Given the description of an element on the screen output the (x, y) to click on. 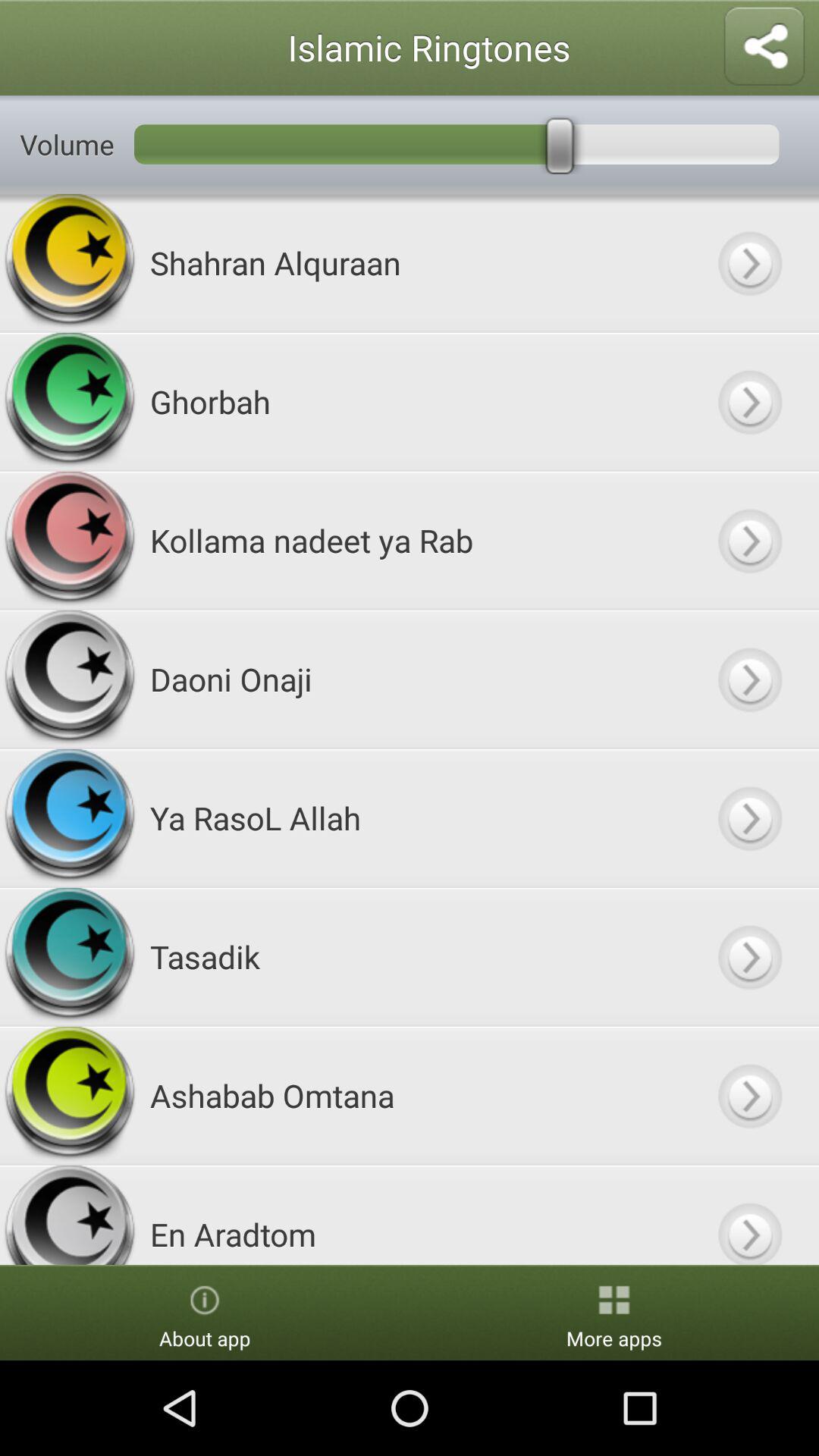
next option (749, 818)
